Given the description of an element on the screen output the (x, y) to click on. 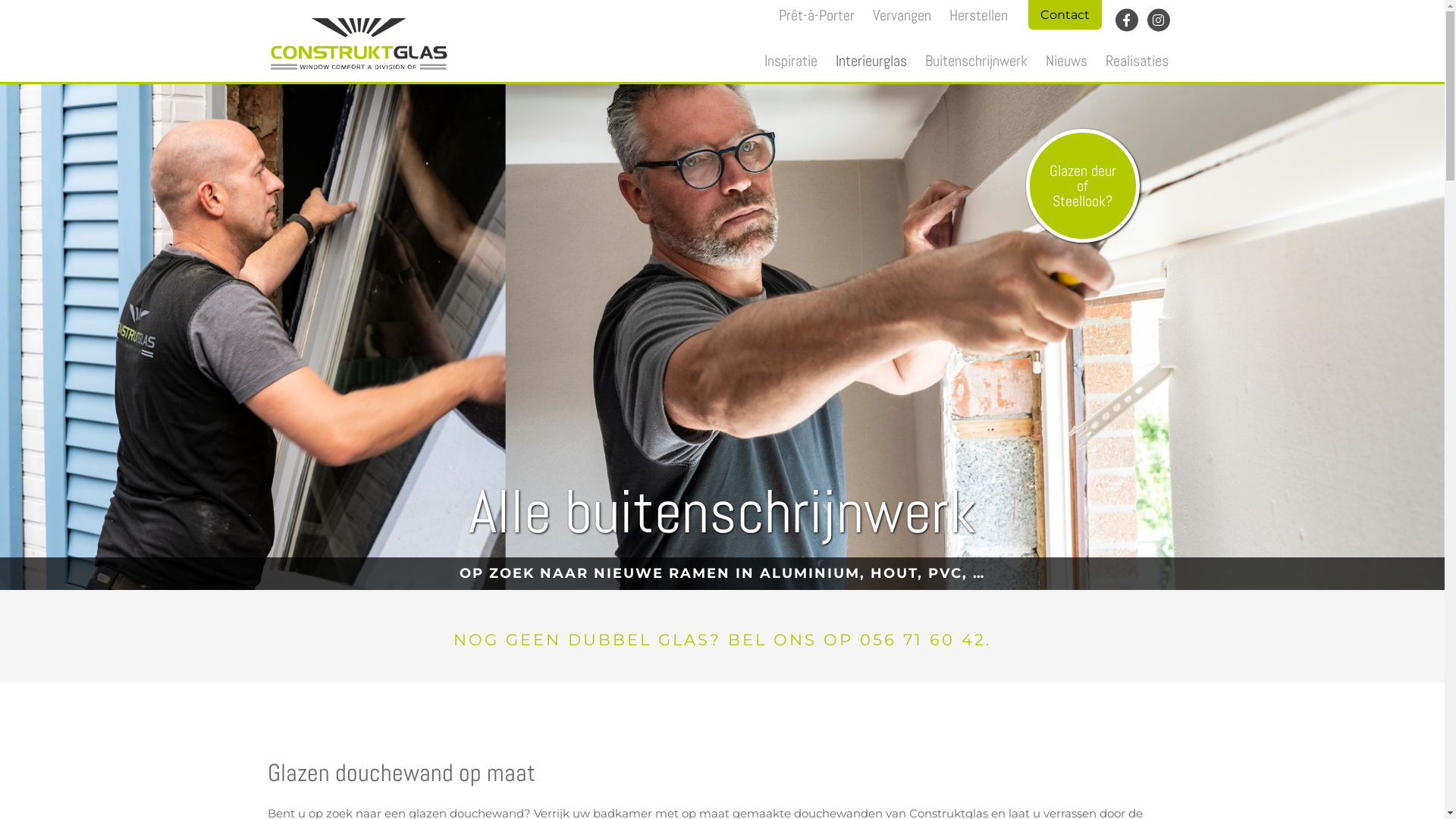
Herstellen Element type: text (978, 15)
Buitenschrijnwerk Element type: text (976, 60)
Nieuws Element type: text (1065, 60)
Glazen deur
of
Steellook? Element type: text (1081, 185)
Realisaties Element type: text (1136, 60)
Vervangen Element type: text (900, 15)
Interieurglas Element type: text (871, 60)
Inspiratie Element type: text (790, 60)
Contact Element type: text (1064, 14)
